Given the description of an element on the screen output the (x, y) to click on. 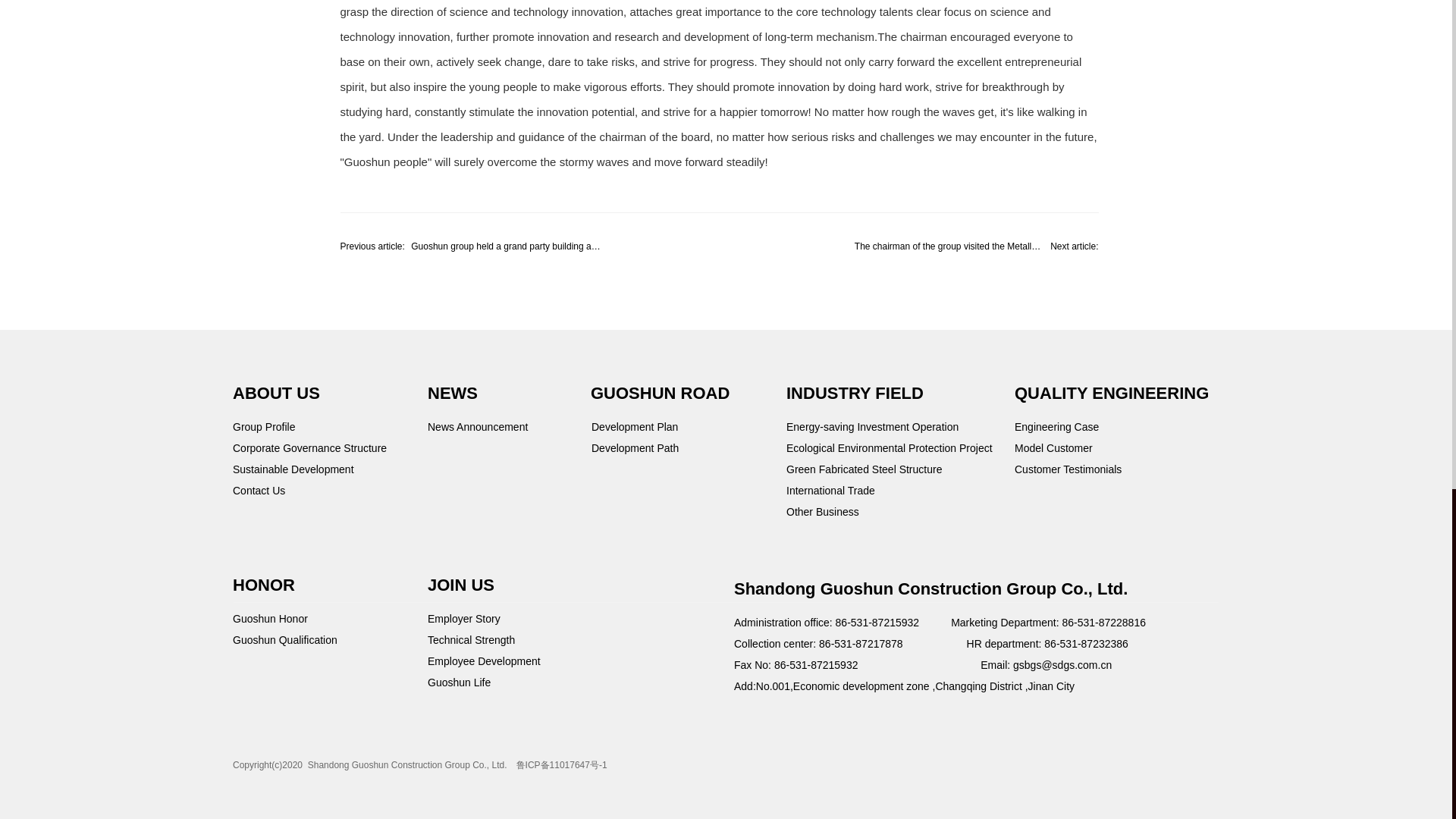
Group Profile (263, 426)
Development Path (634, 448)
Development Plan (634, 426)
News Announcement (477, 426)
Contact Us (258, 490)
Sustainable Development (292, 469)
Corporate Governance Structure (309, 448)
